Given the description of an element on the screen output the (x, y) to click on. 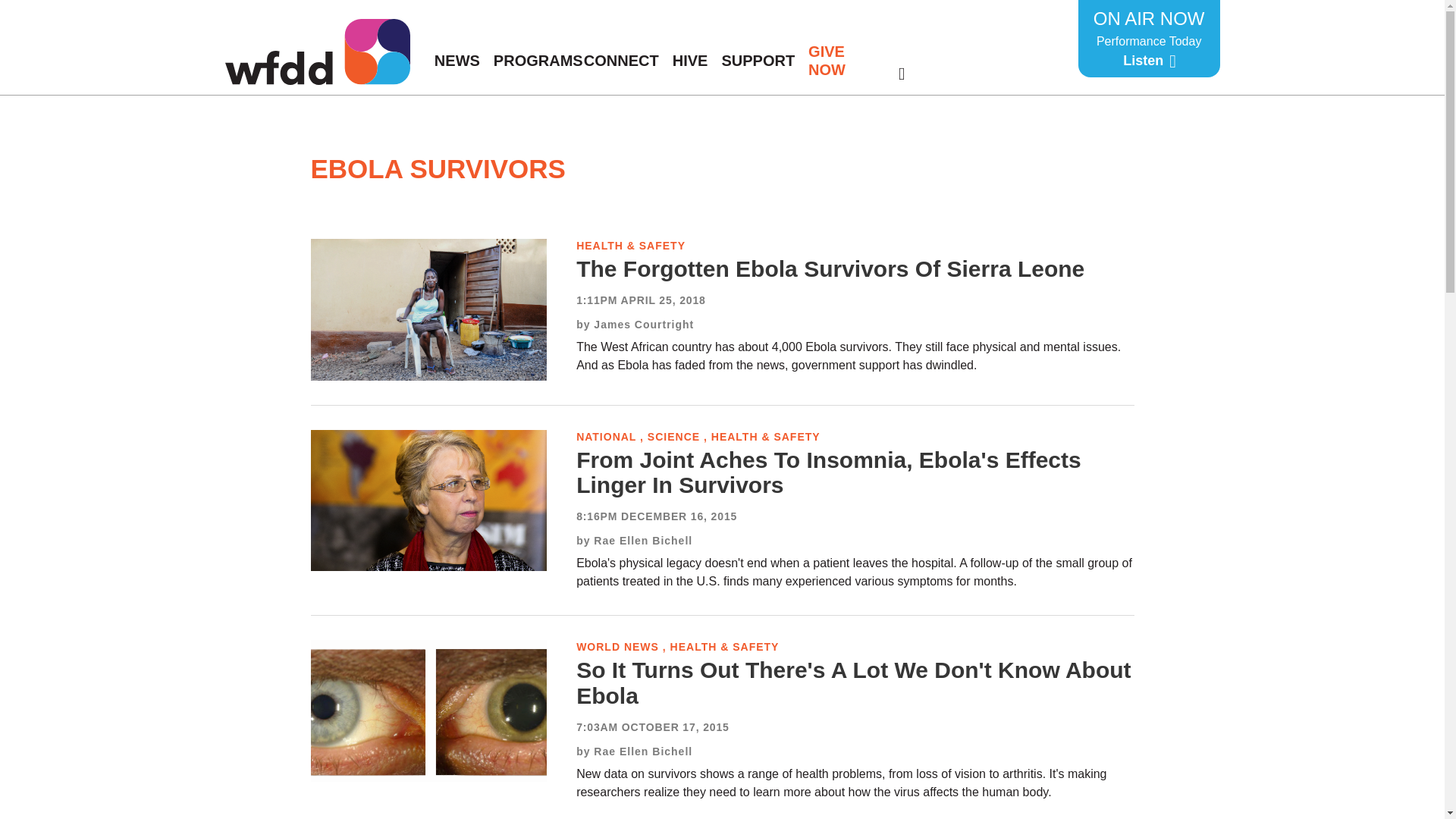
Home (316, 51)
Skip to main content (1149, 38)
